Given the description of an element on the screen output the (x, y) to click on. 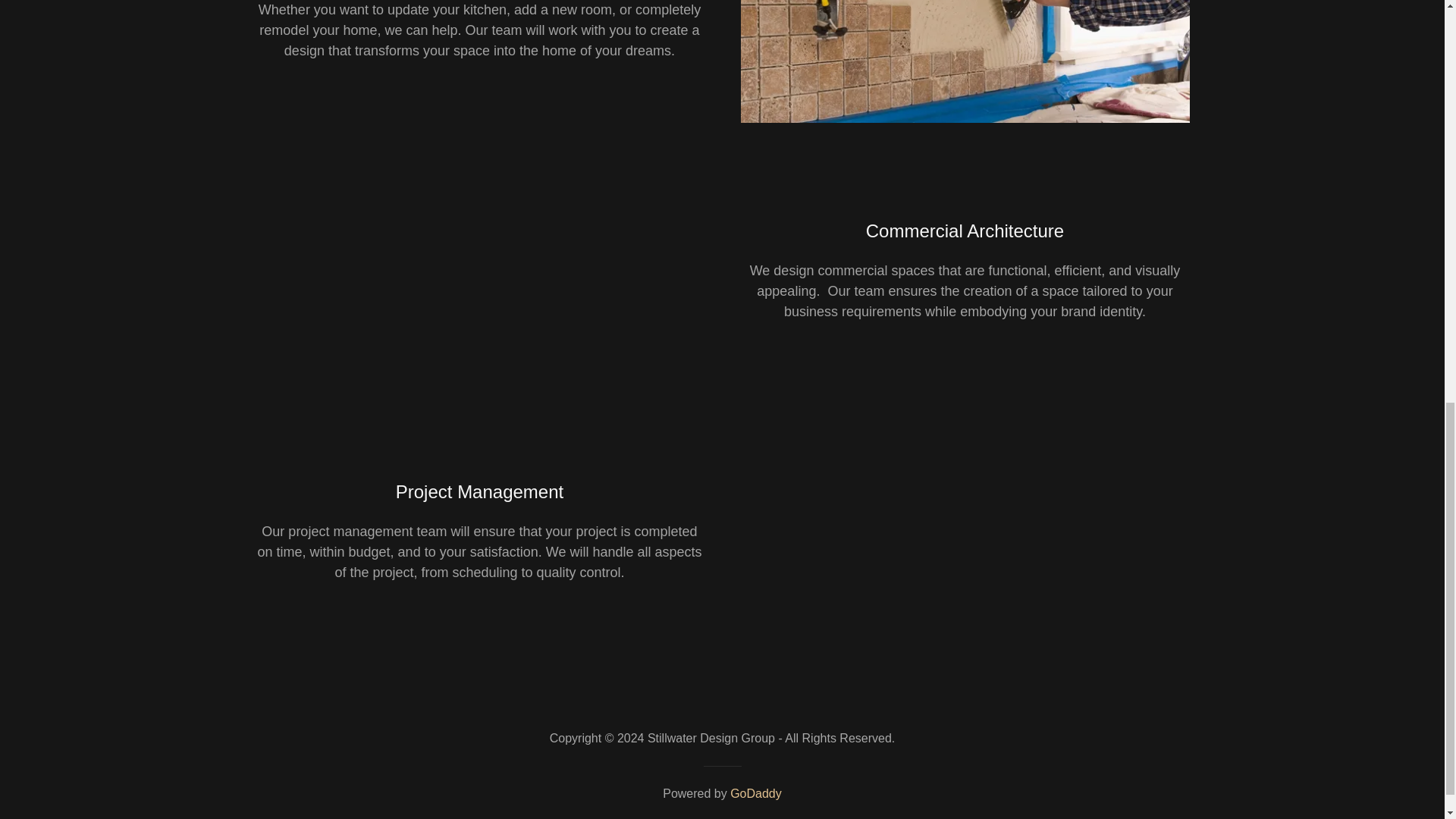
GoDaddy (755, 793)
